Given the description of an element on the screen output the (x, y) to click on. 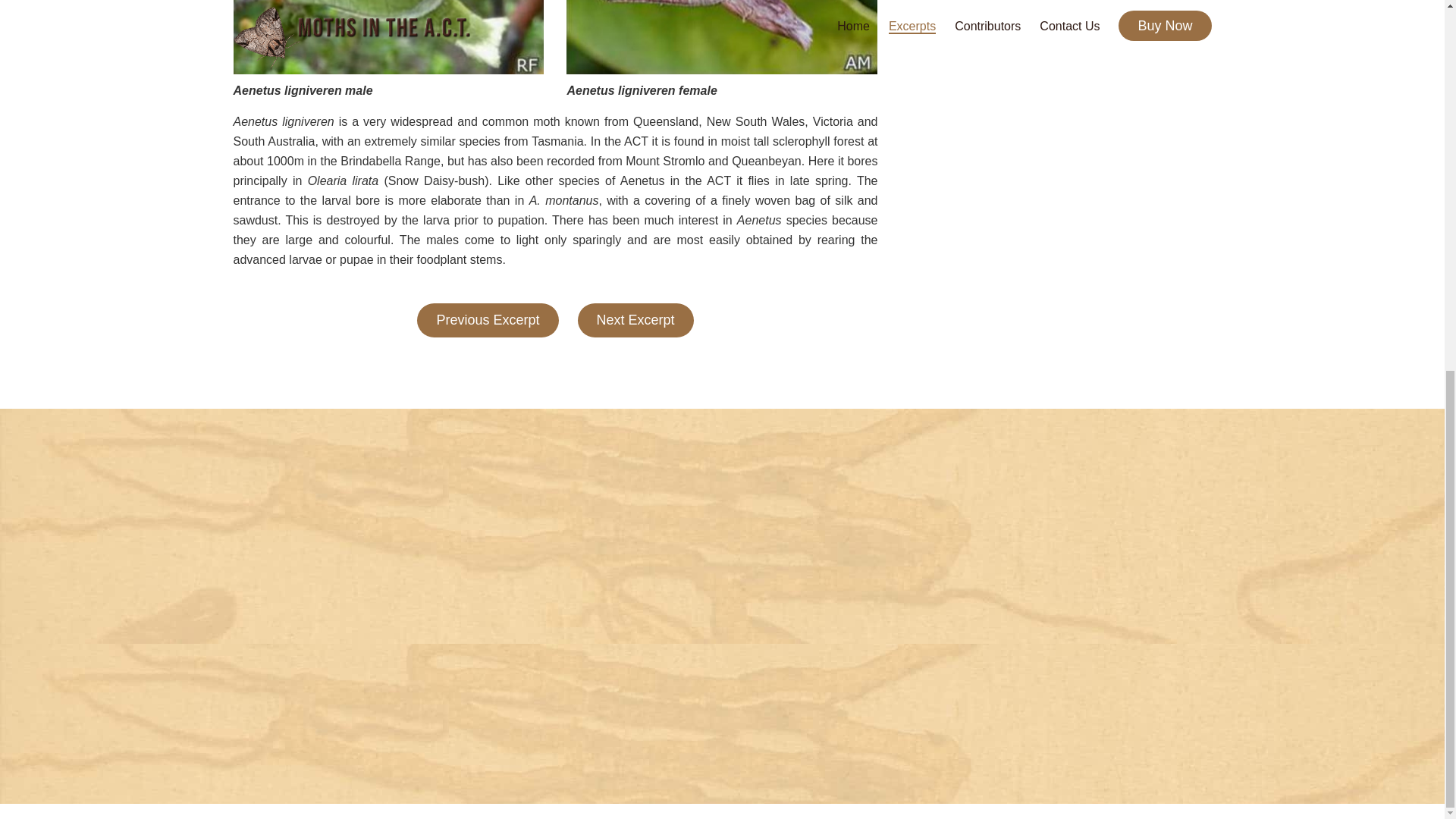
Previous Excerpt (486, 320)
Next Excerpt (636, 320)
